Given the description of an element on the screen output the (x, y) to click on. 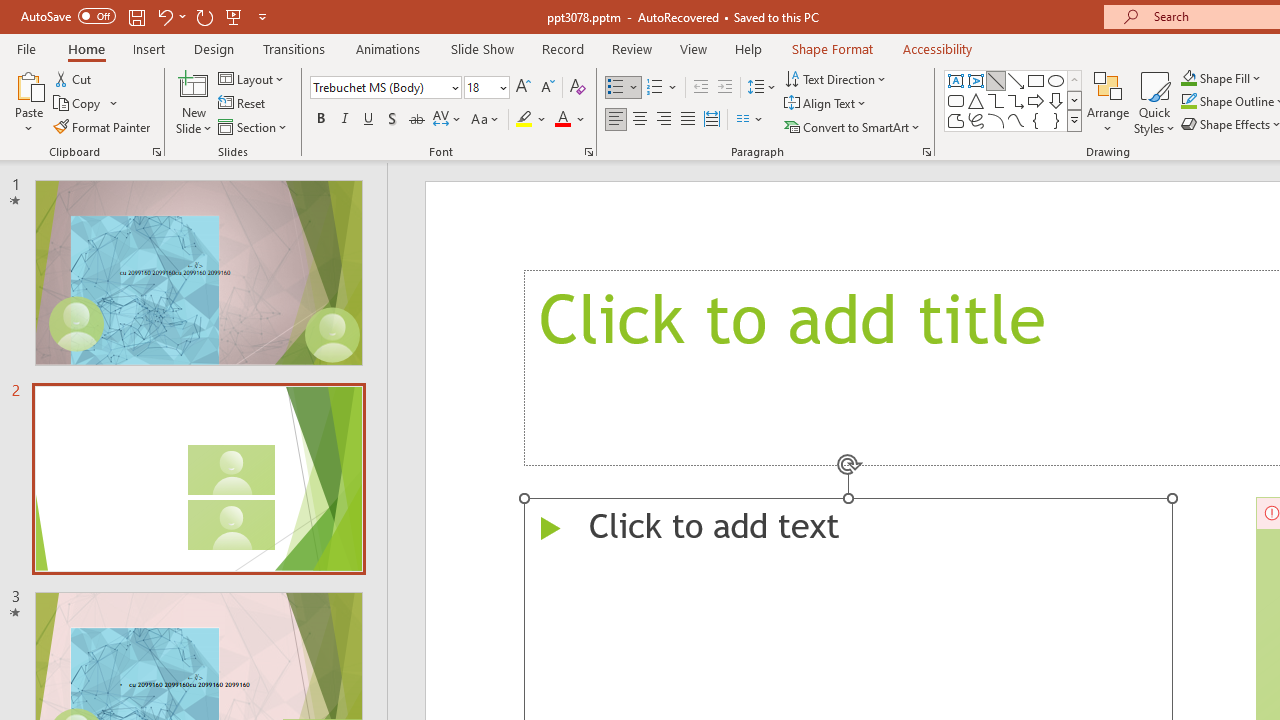
Bold (320, 119)
Align Left (616, 119)
Decrease Font Size (547, 87)
Convert to SmartArt (853, 126)
Reset (243, 103)
Text Highlight Color Yellow (524, 119)
Increase Indent (725, 87)
